Given the description of an element on the screen output the (x, y) to click on. 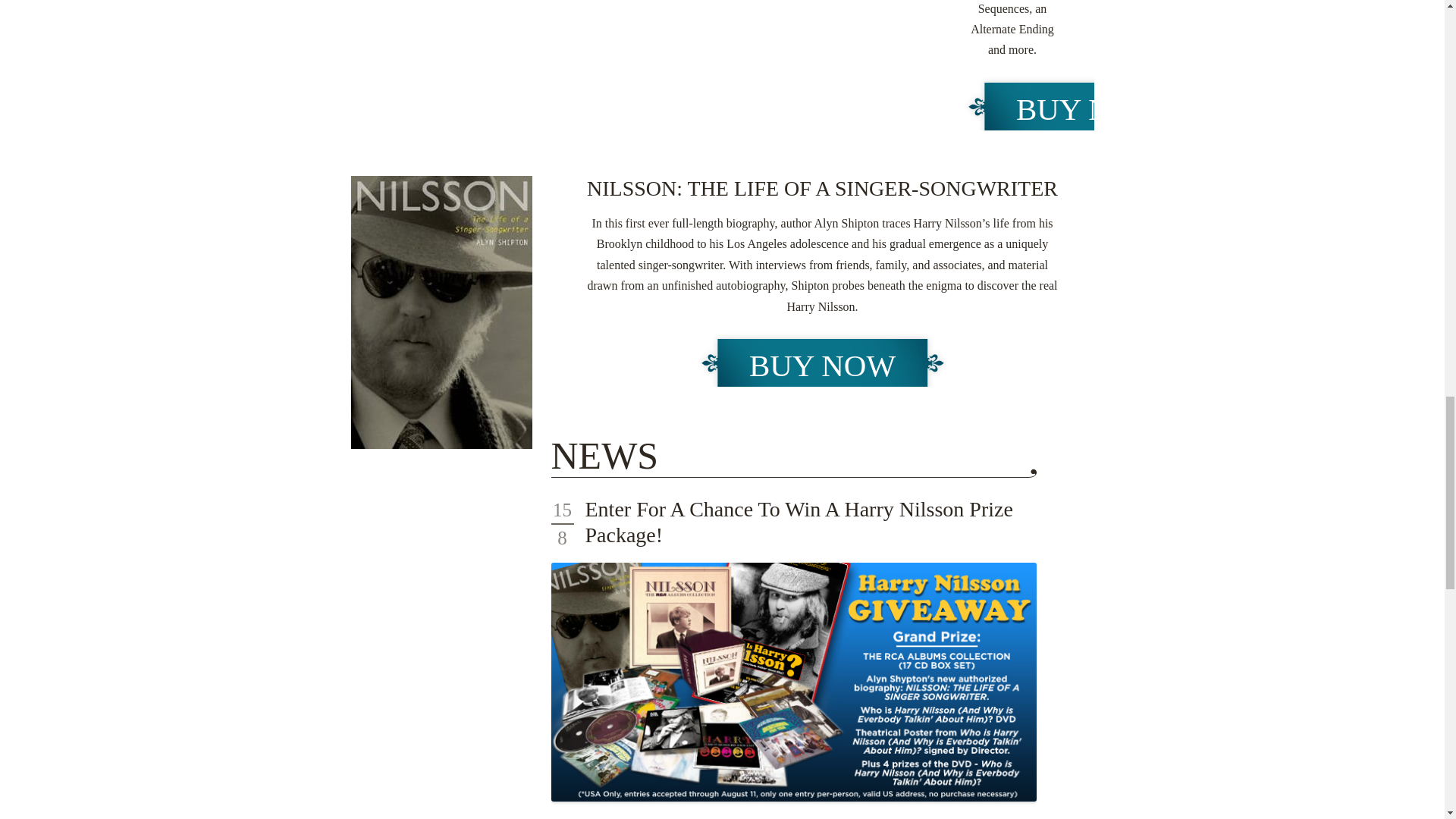
BUY NOW (822, 365)
BUY NOW (1088, 108)
